Given the description of an element on the screen output the (x, y) to click on. 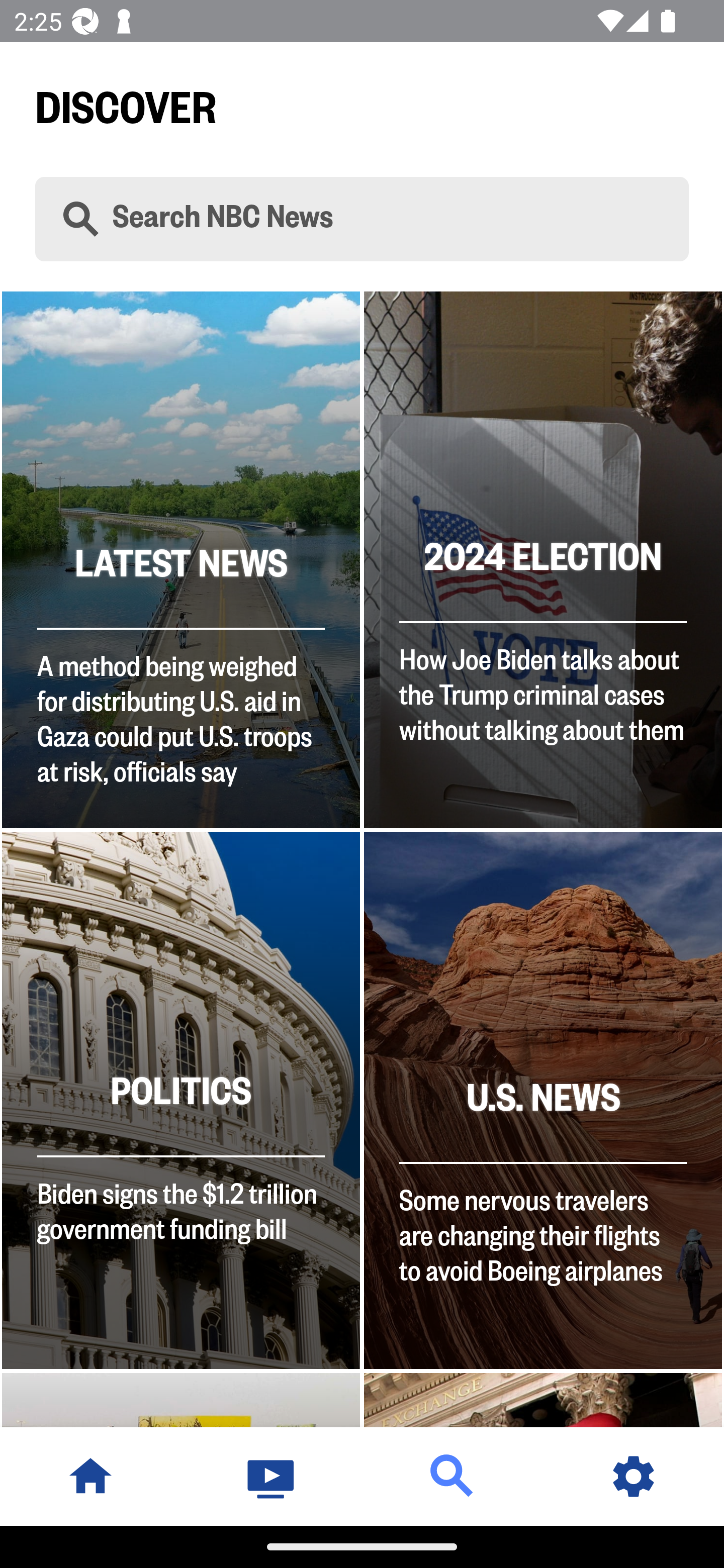
NBC News Home (90, 1475)
Watch (271, 1475)
Settings (633, 1475)
